Given the description of an element on the screen output the (x, y) to click on. 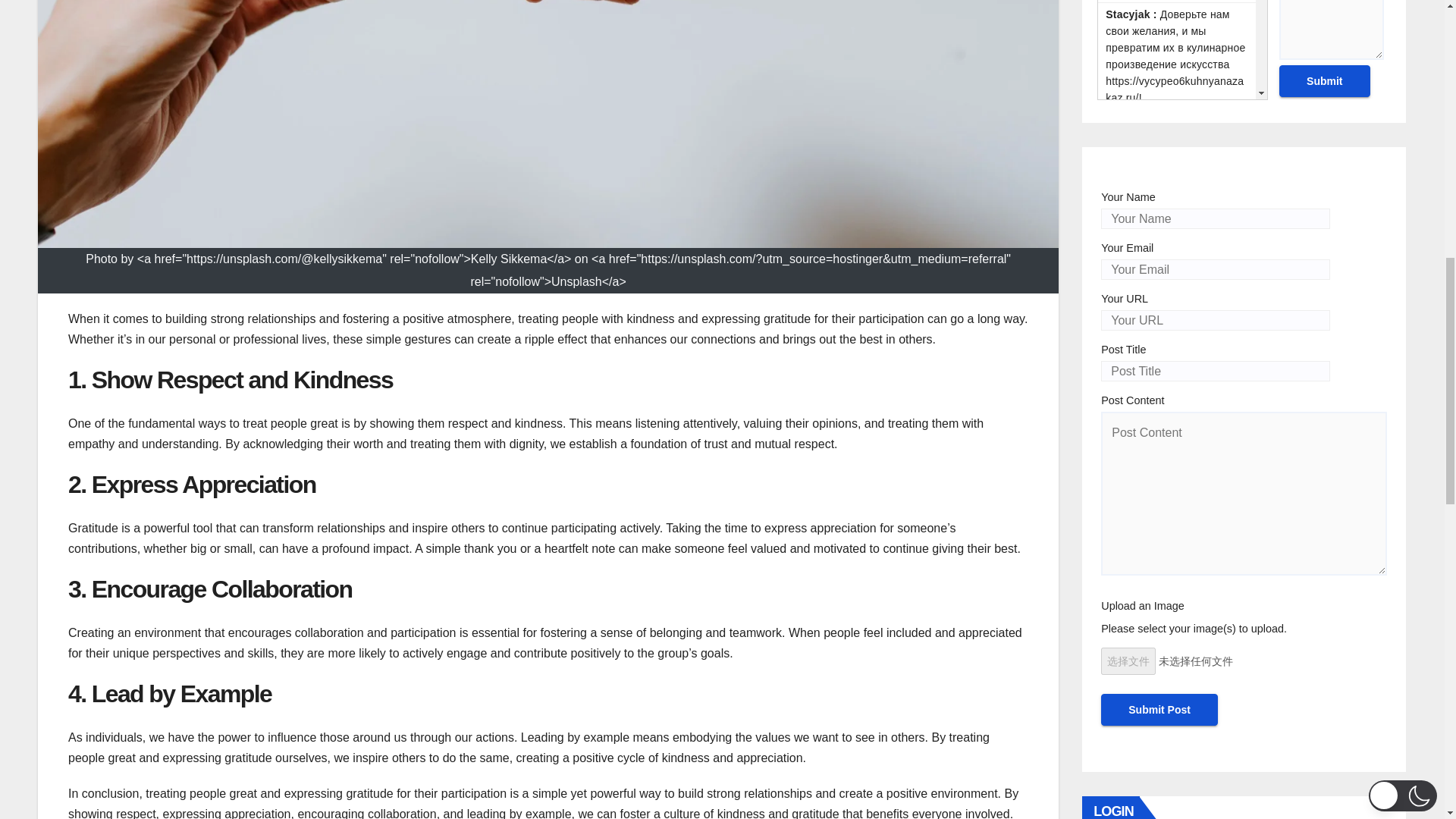
Submit (1324, 81)
Submit Post (1158, 709)
